Given the description of an element on the screen output the (x, y) to click on. 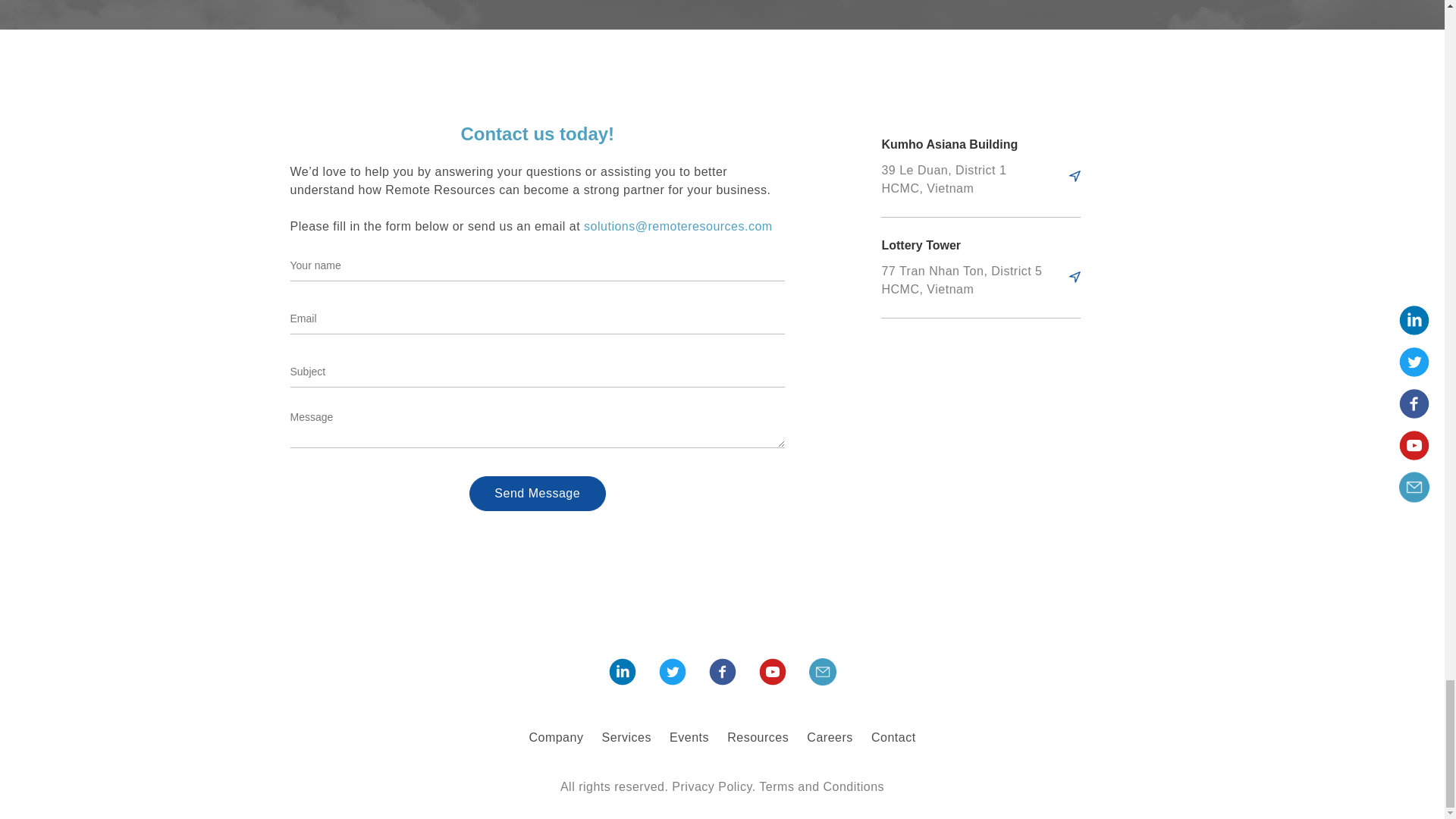
Send Message (536, 493)
